Given the description of an element on the screen output the (x, y) to click on. 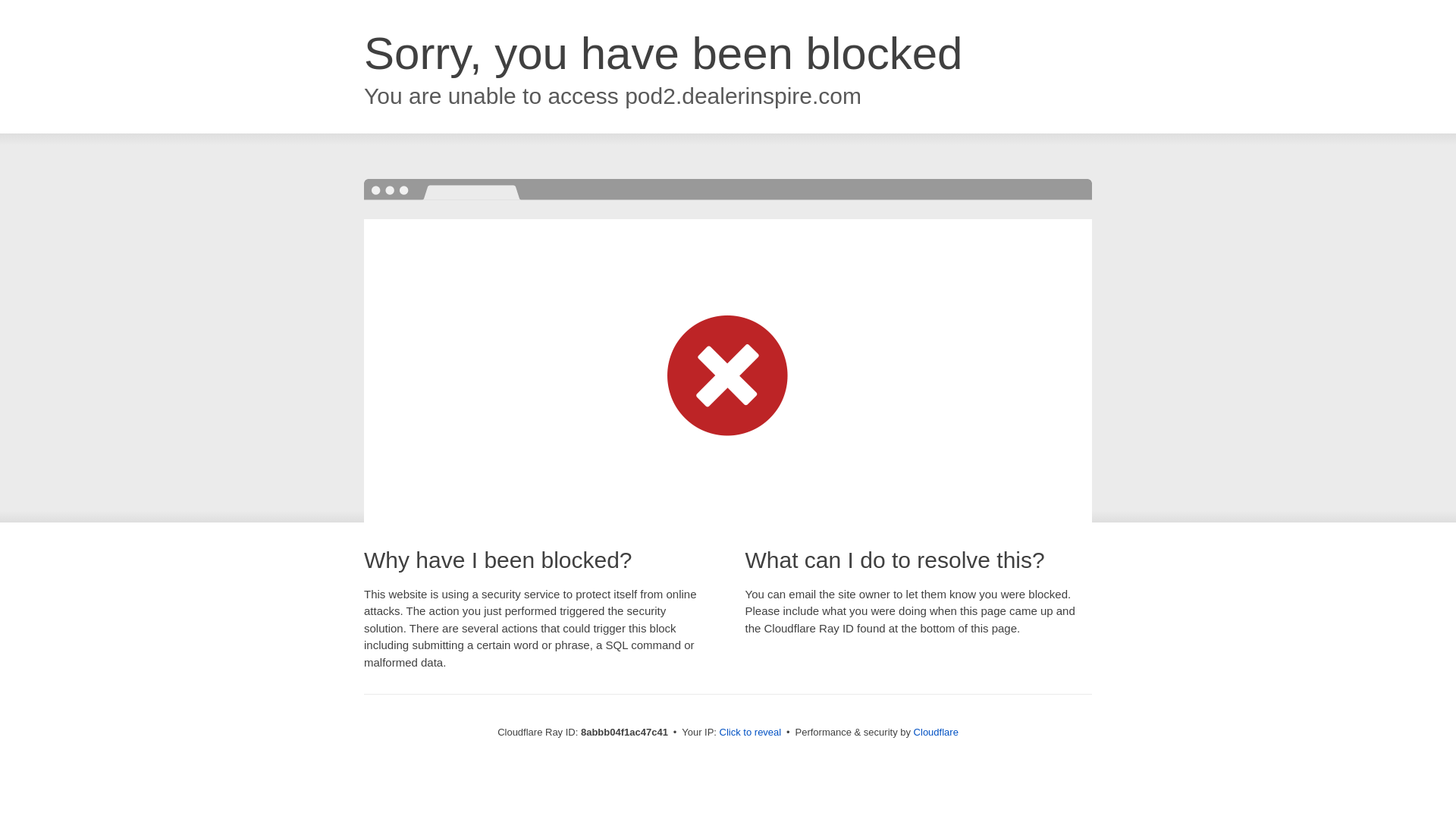
Cloudflare (936, 731)
Click to reveal (750, 732)
